Given the description of an element on the screen output the (x, y) to click on. 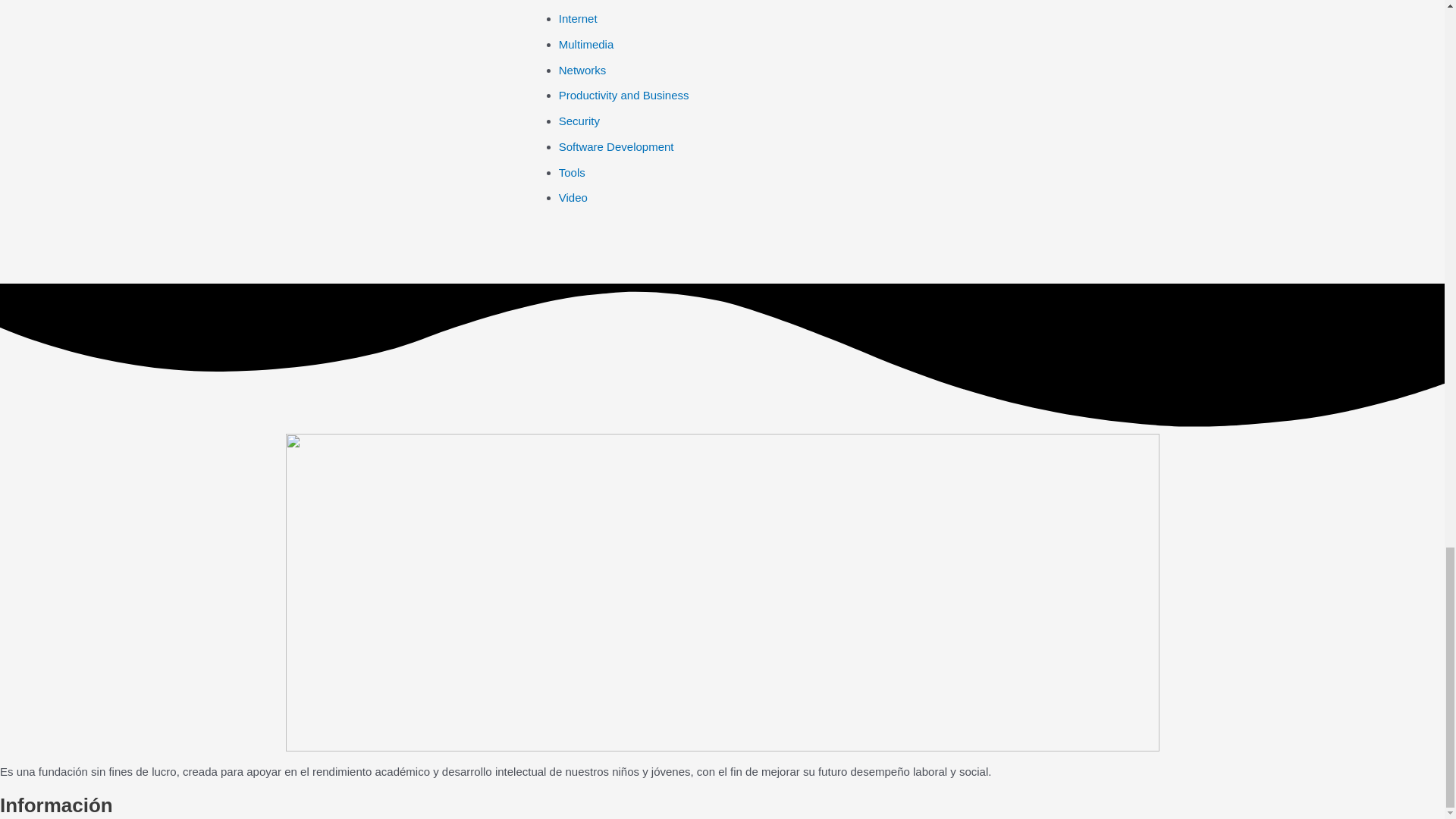
Tools (572, 172)
Networks (583, 69)
Security (579, 120)
Multimedia (586, 43)
Productivity and Business (623, 94)
Internet (577, 18)
Video (573, 196)
Software Development (616, 146)
